Given the description of an element on the screen output the (x, y) to click on. 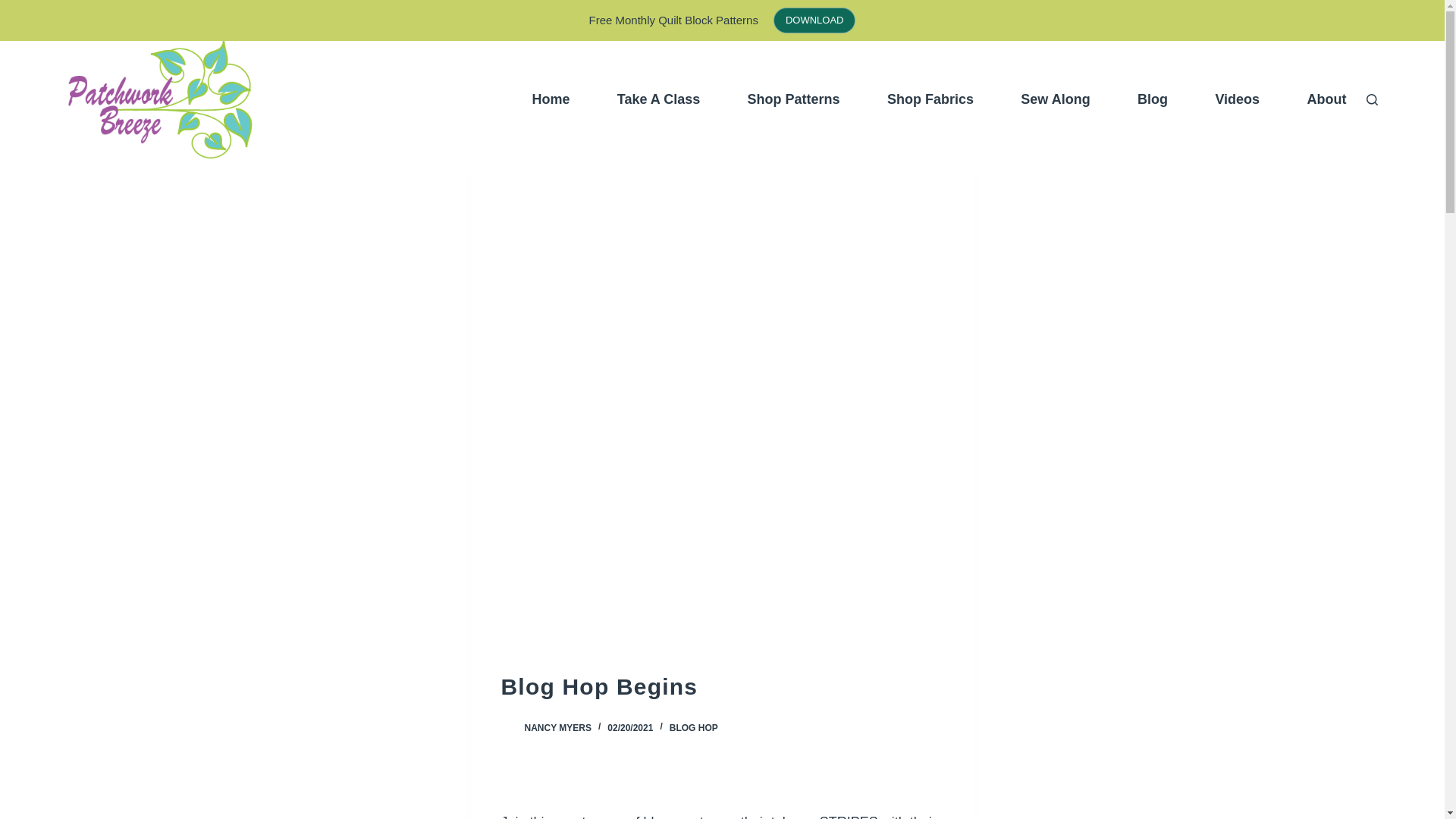
DOWNLOAD (814, 20)
Blog Hop Begins (721, 686)
NANCY MYERS (557, 727)
BLOG HOP (693, 727)
Skip to content (15, 7)
Posts by Nancy Myers (557, 727)
